Given the description of an element on the screen output the (x, y) to click on. 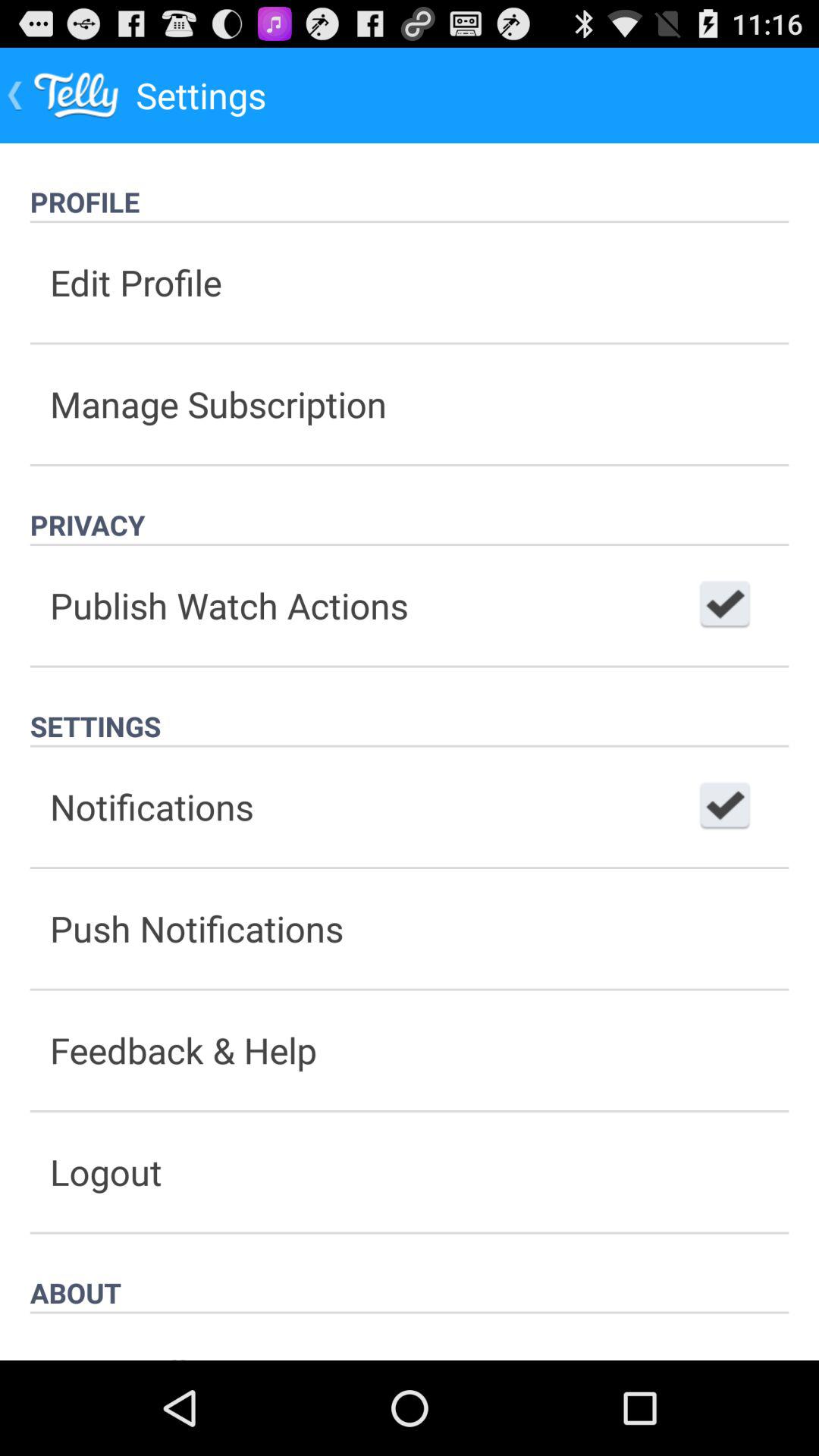
open the manage subscription button (409, 404)
